Given the description of an element on the screen output the (x, y) to click on. 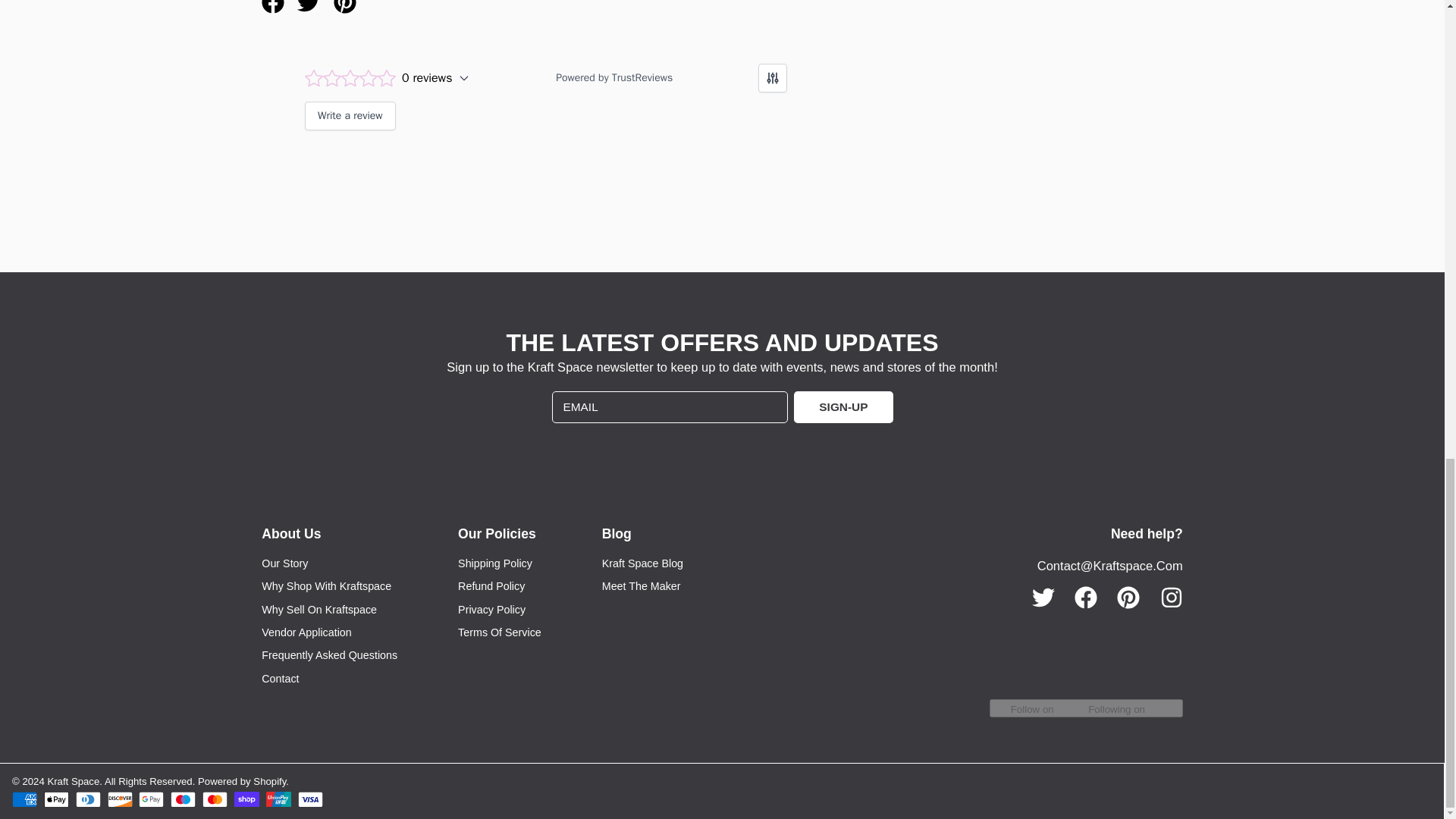
Reviews (545, 103)
